Given the description of an element on the screen output the (x, y) to click on. 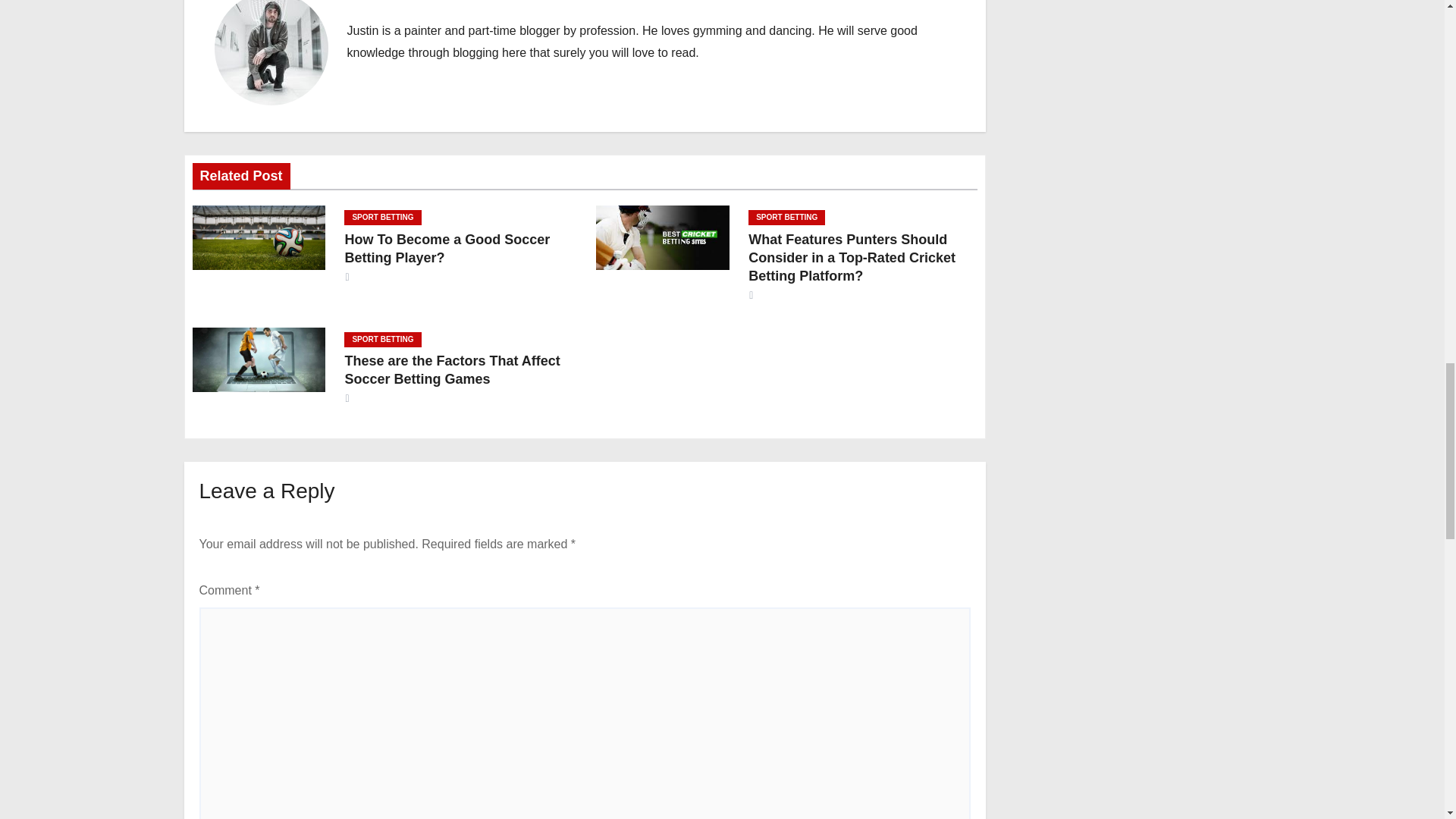
How To Become a Good Soccer Betting Player? (446, 248)
SPORT BETTING (381, 217)
Permalink to: How To Become a Good Soccer Betting Player? (446, 248)
